Given the description of an element on the screen output the (x, y) to click on. 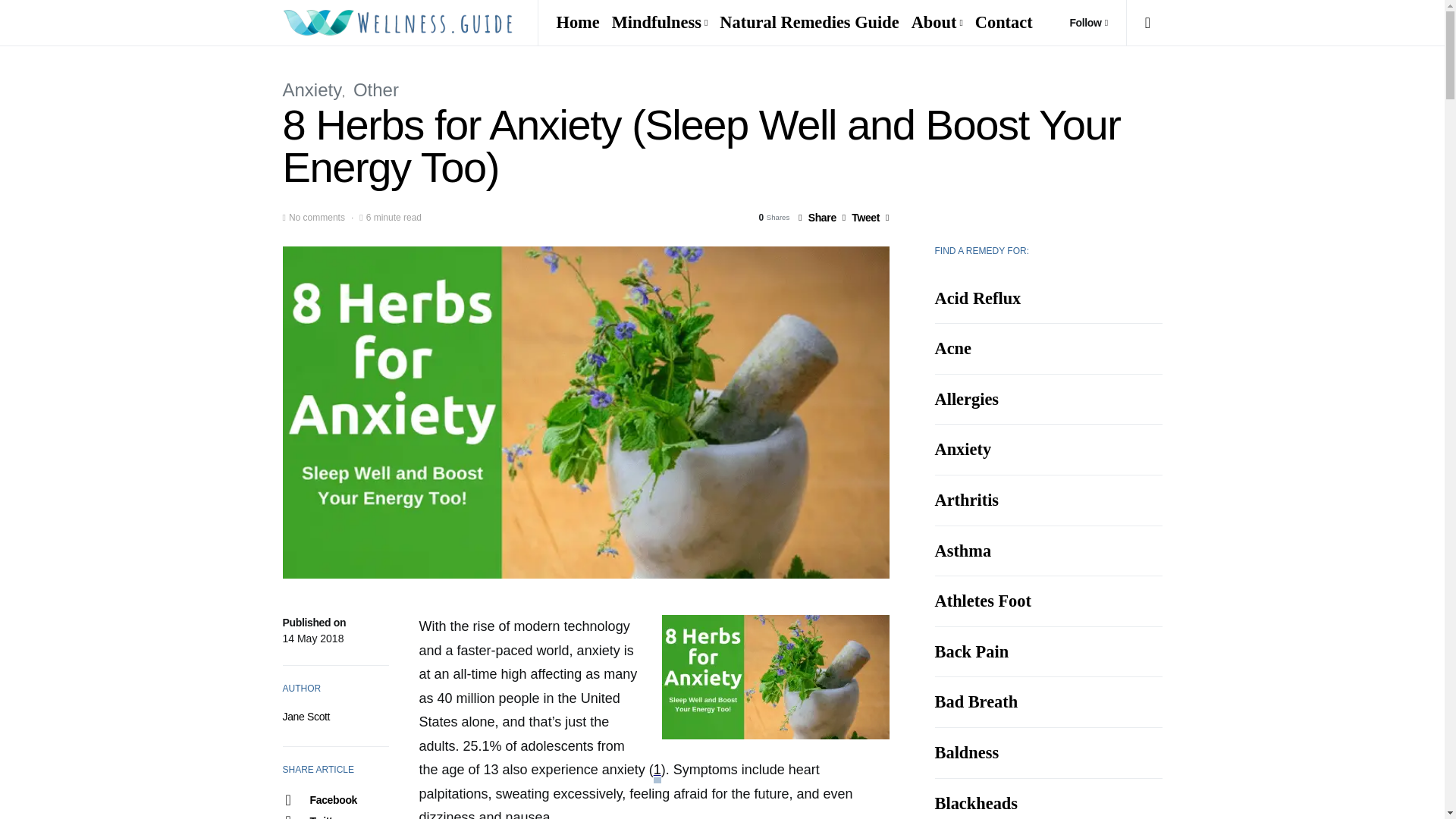
Contact (1000, 22)
Other (375, 89)
Mindfulness (659, 22)
Natural Remedies Guide (808, 22)
About (937, 22)
Home (580, 22)
Tweet (861, 216)
No comments (316, 217)
Share (817, 216)
Anxiety (312, 89)
